Given the description of an element on the screen output the (x, y) to click on. 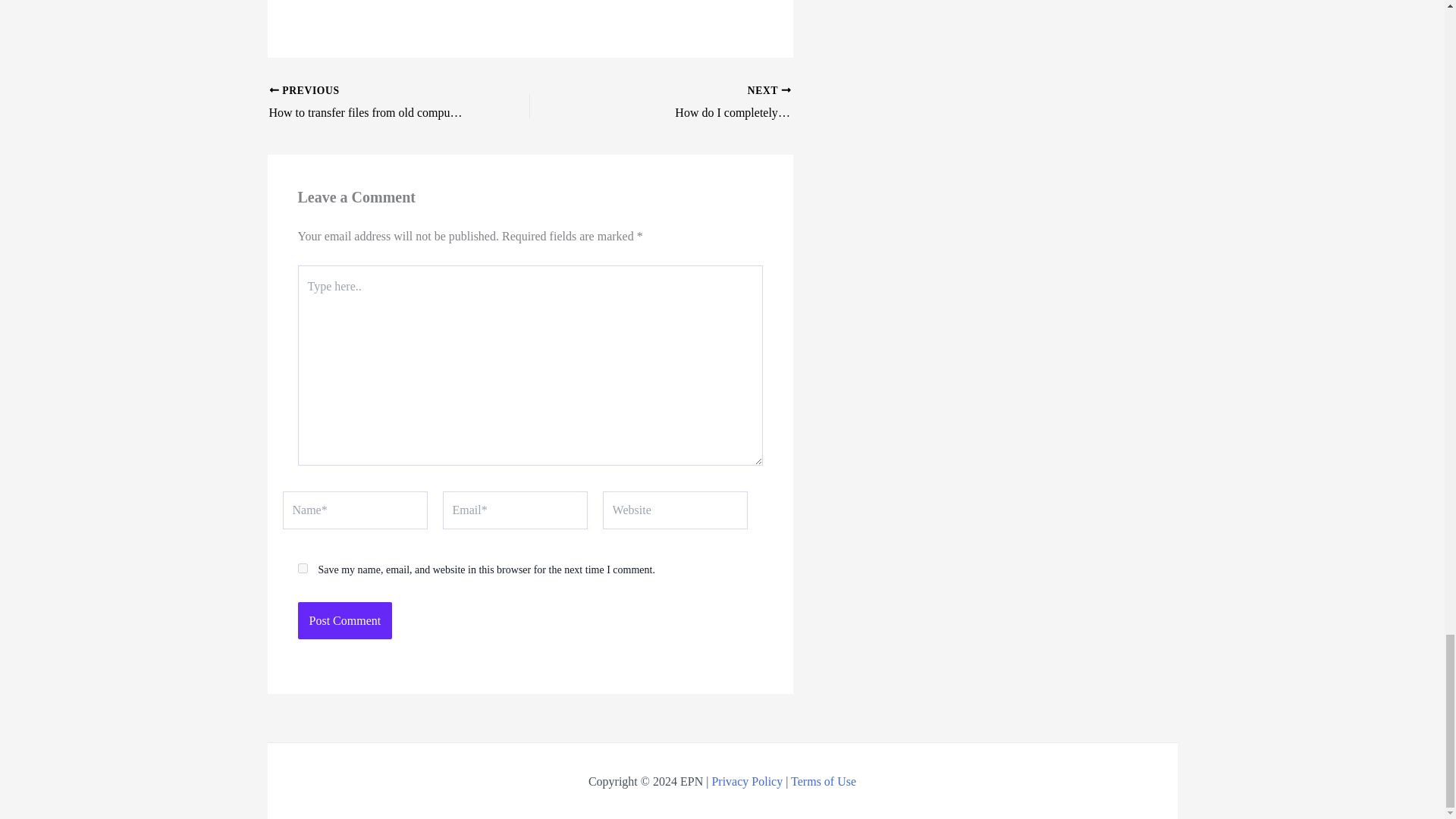
How do I completely wipe my computer clean? (724, 102)
yes (302, 568)
Post Comment (724, 102)
How to transfer files from old computer to new mac? (373, 102)
Post Comment (344, 620)
